Given the description of an element on the screen output the (x, y) to click on. 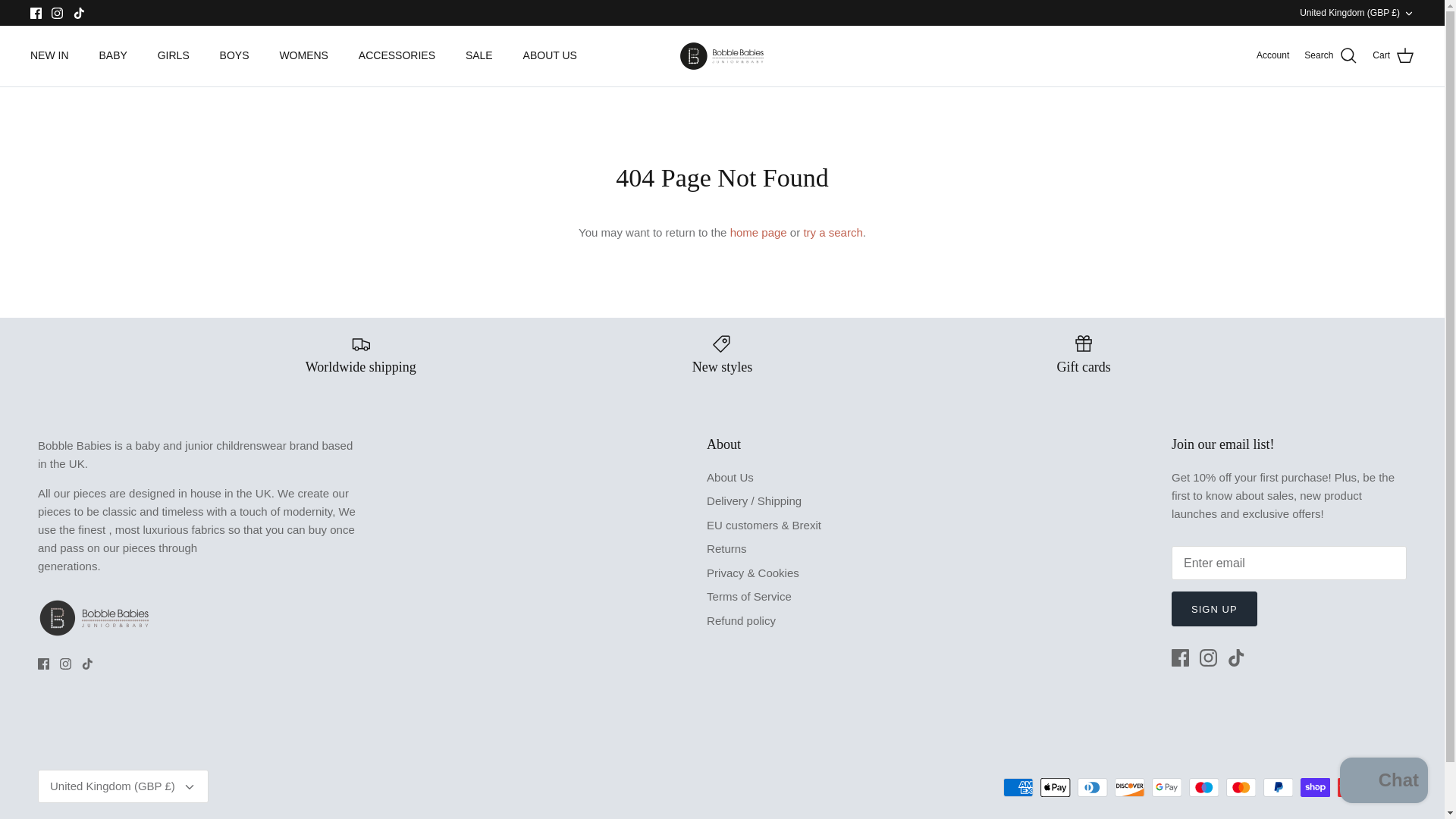
Apple Pay (1055, 787)
Facebook (36, 12)
American Express (1018, 787)
Instagram (56, 12)
Diners Club (1092, 787)
Shopify online store chat (1383, 781)
Instagram (65, 663)
Instagram (56, 12)
Facebook (43, 663)
Instagram (1208, 657)
